Given the description of an element on the screen output the (x, y) to click on. 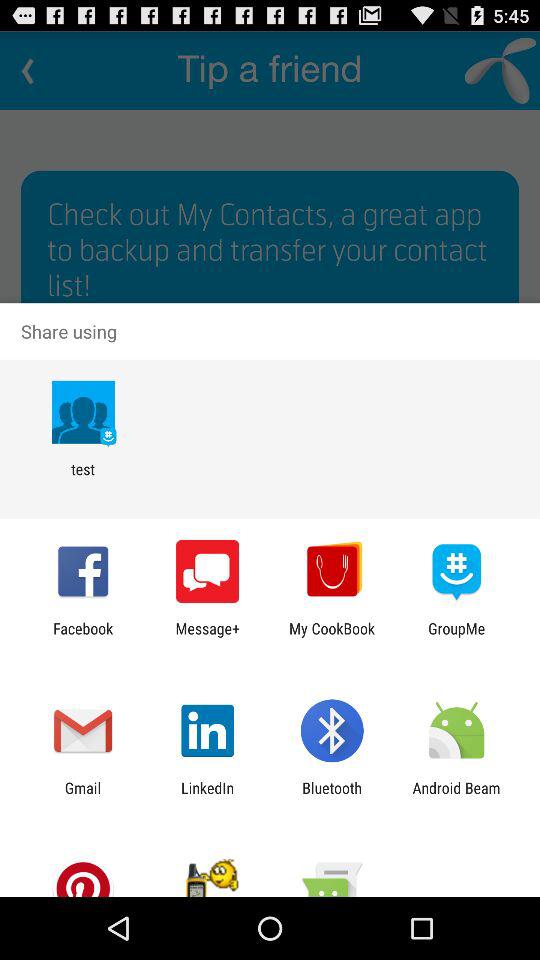
tap item to the right of message+ icon (331, 637)
